Given the description of an element on the screen output the (x, y) to click on. 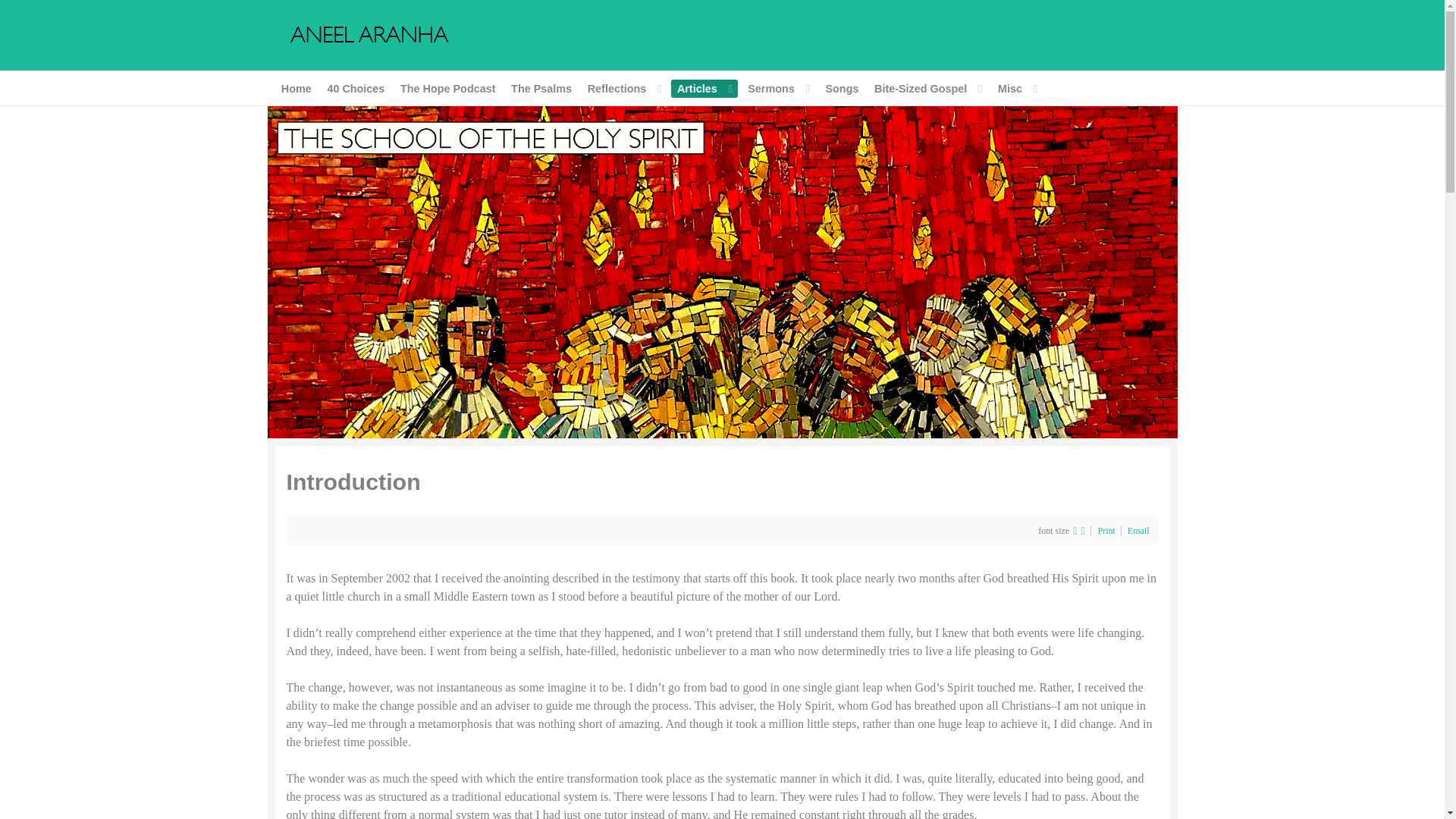
Sermons (778, 88)
Aneel Aranha (721, 270)
Misc (1016, 88)
40 Choices (355, 88)
Bite-Sized Gospel (928, 88)
The Hope Podcast (447, 88)
Songs (841, 88)
Reflections (623, 88)
Aneel Aranha (369, 33)
The Psalms (541, 88)
Articles (704, 88)
Home (296, 88)
